Given the description of an element on the screen output the (x, y) to click on. 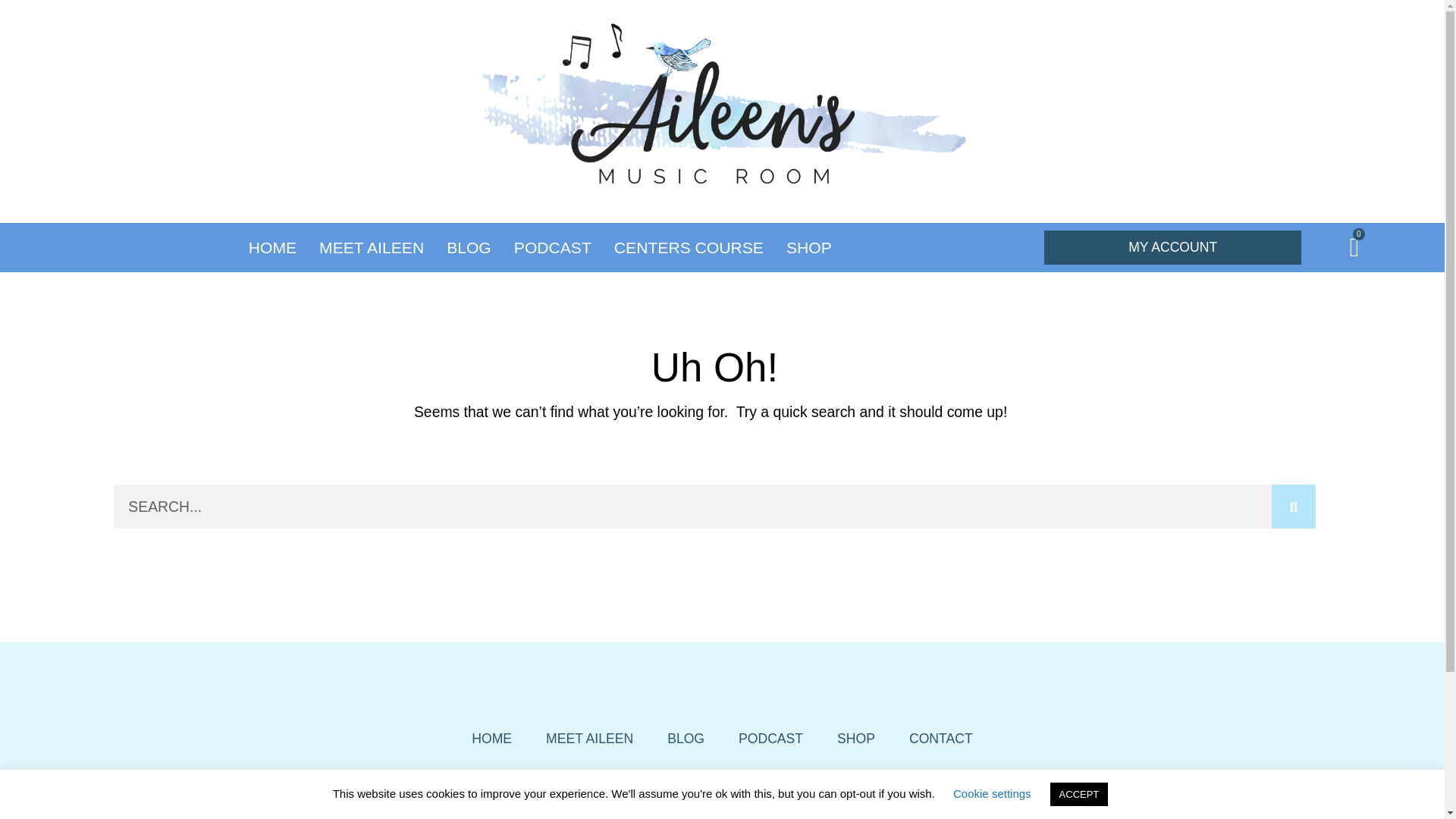
PODCAST (553, 247)
HOME (490, 738)
MEET AILEEN (371, 247)
CENTERS COURSE (688, 247)
0 (1354, 246)
BLOG (686, 738)
MEET AILEEN (589, 738)
MY ACCOUNT (1172, 247)
HOME (271, 247)
PODCAST (770, 738)
BLOG (468, 247)
SHOP (855, 738)
CONTACT (941, 738)
SHOP (809, 247)
